Given the description of an element on the screen output the (x, y) to click on. 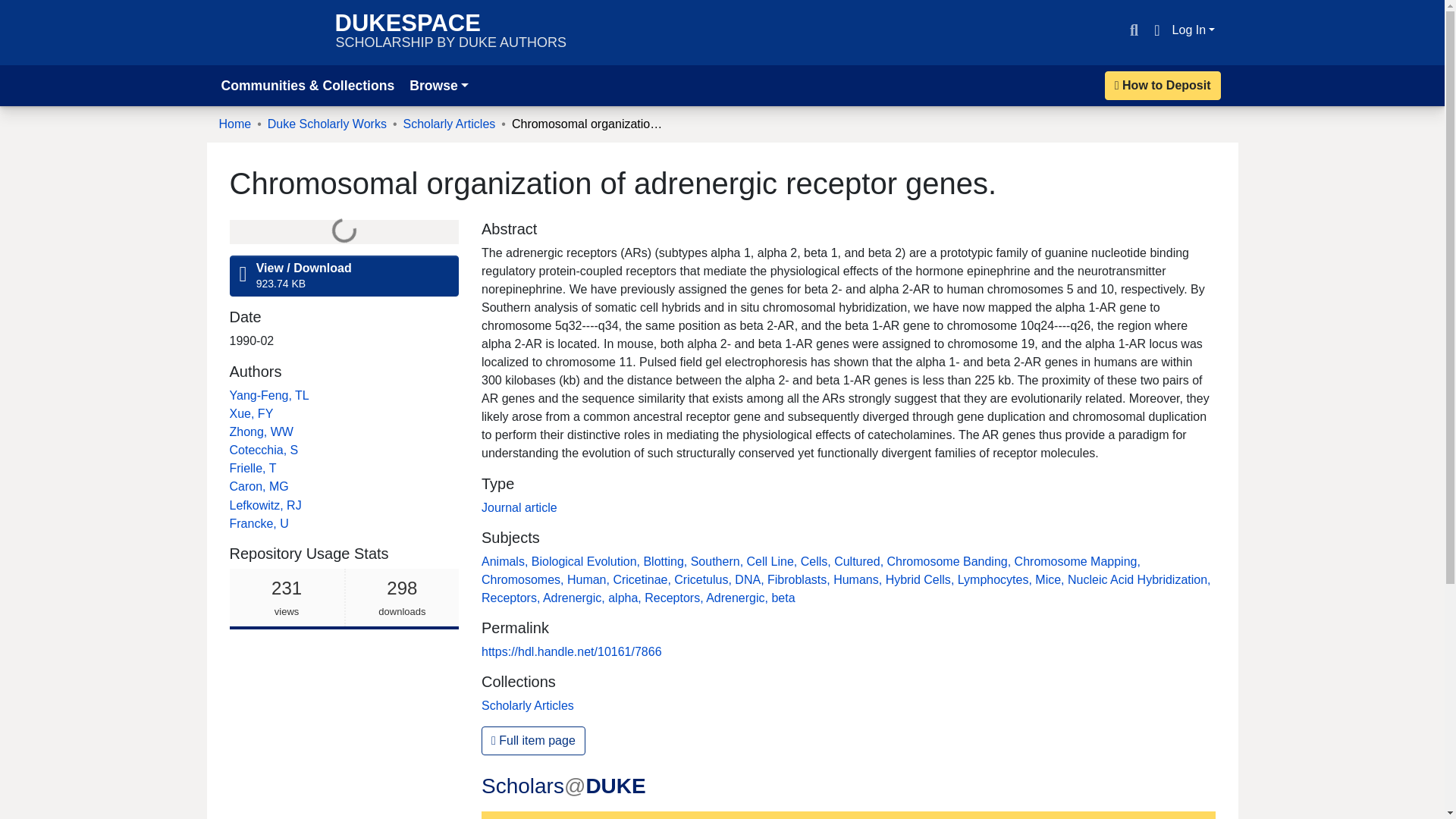
Language switch (1156, 30)
Caron, MG (258, 486)
Scholarly Articles (449, 124)
Frielle, T (450, 32)
Cotecchia, S (252, 468)
Home (263, 449)
Lefkowitz, RJ (234, 124)
Skip to Main Content (266, 504)
Log In (18, 9)
Duke University Libraries (1193, 29)
Duke Scholarly Works (269, 32)
Francke, U (327, 124)
Blotting, Southern, (343, 598)
